Given the description of an element on the screen output the (x, y) to click on. 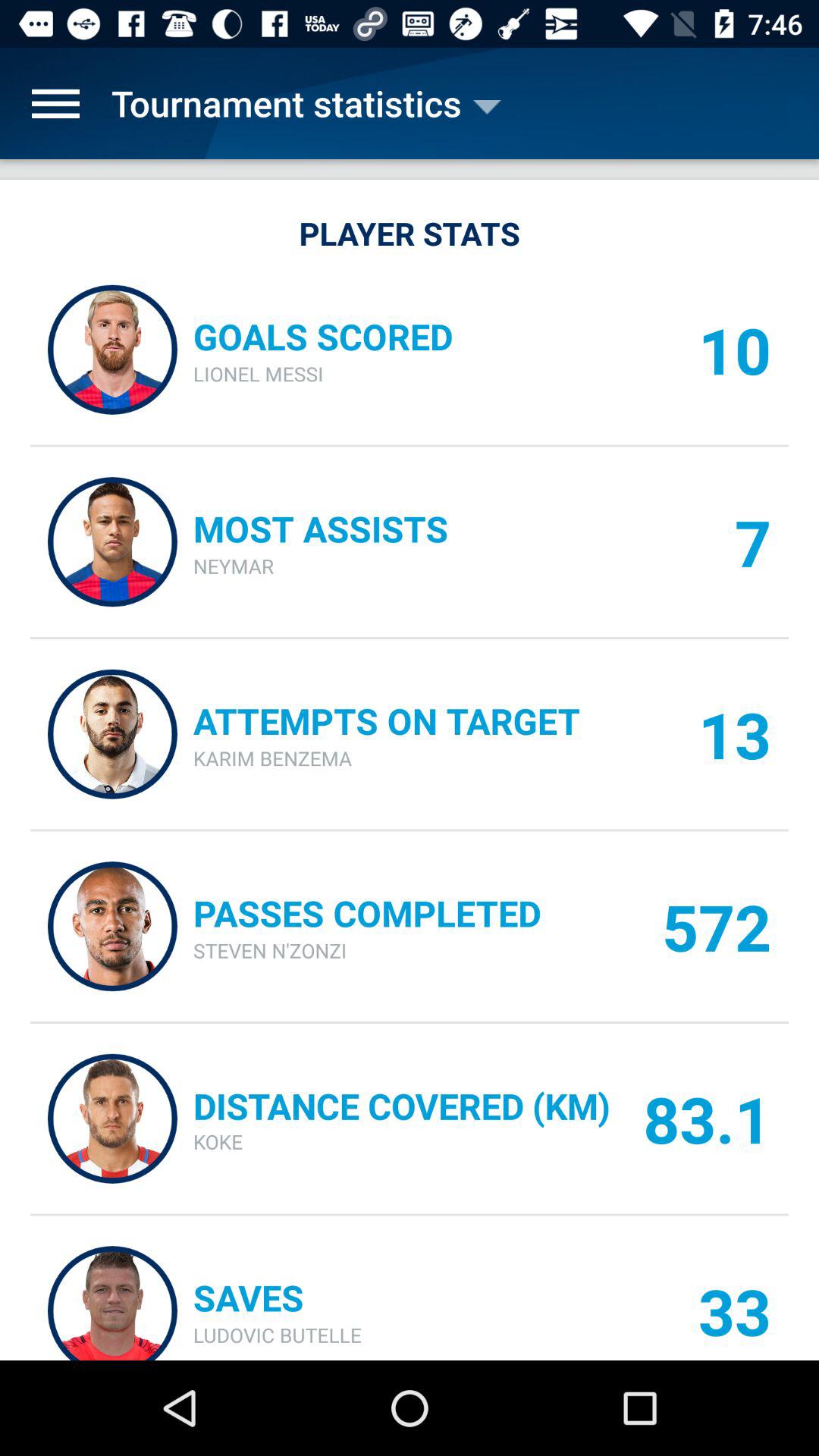
launch the item next to tournament statistics item (55, 103)
